Given the description of an element on the screen output the (x, y) to click on. 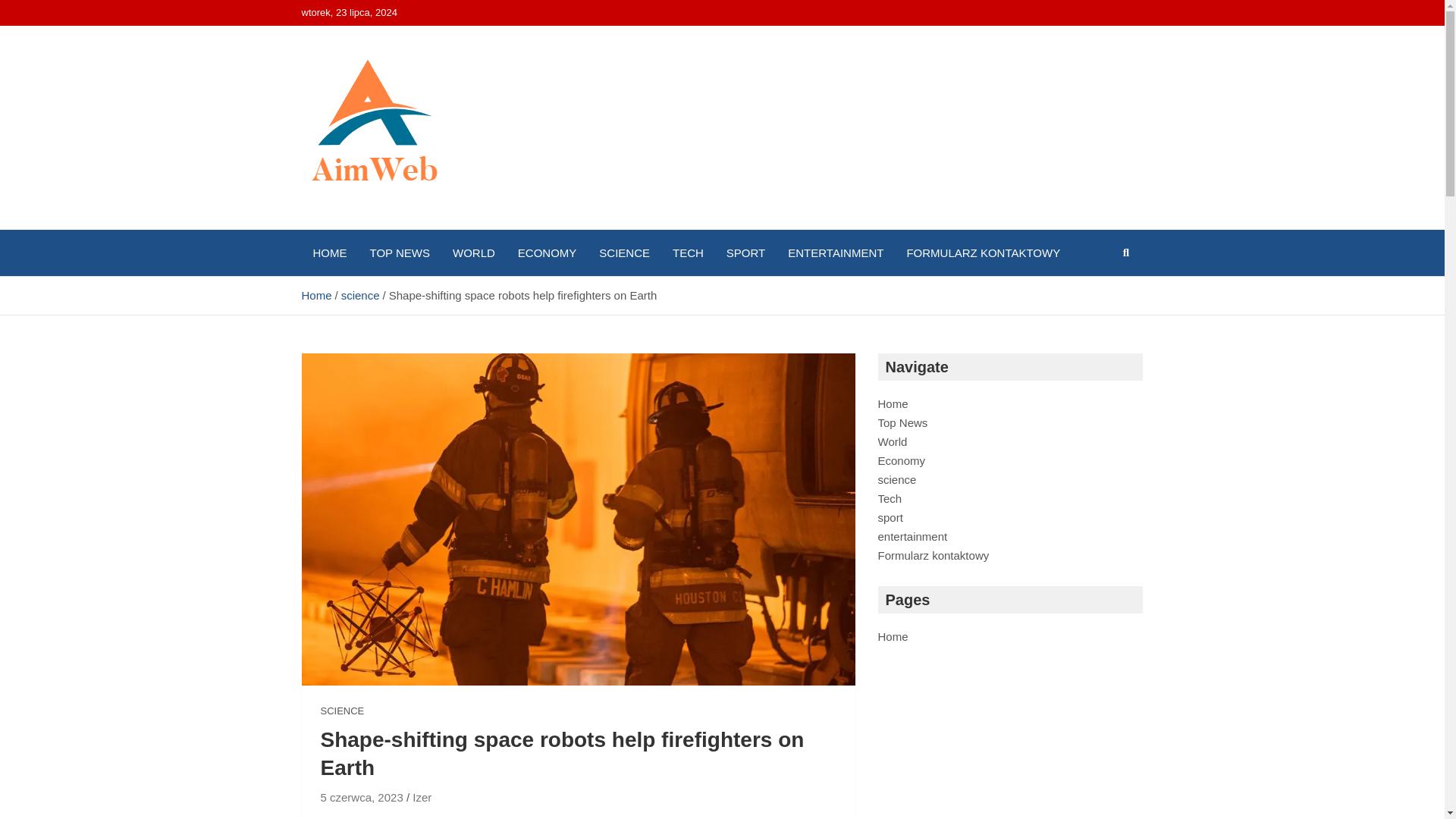
SPORT (745, 253)
Home (316, 295)
sport (889, 517)
Formularz kontaktowy (933, 554)
TOP NEWS (399, 253)
Economy (901, 460)
SCIENCE (624, 253)
Home (892, 403)
AimWeb (361, 226)
Izer (421, 797)
ENTERTAINMENT (835, 253)
entertainment (912, 535)
Top News (902, 422)
SCIENCE (342, 711)
science (897, 479)
